Given the description of an element on the screen output the (x, y) to click on. 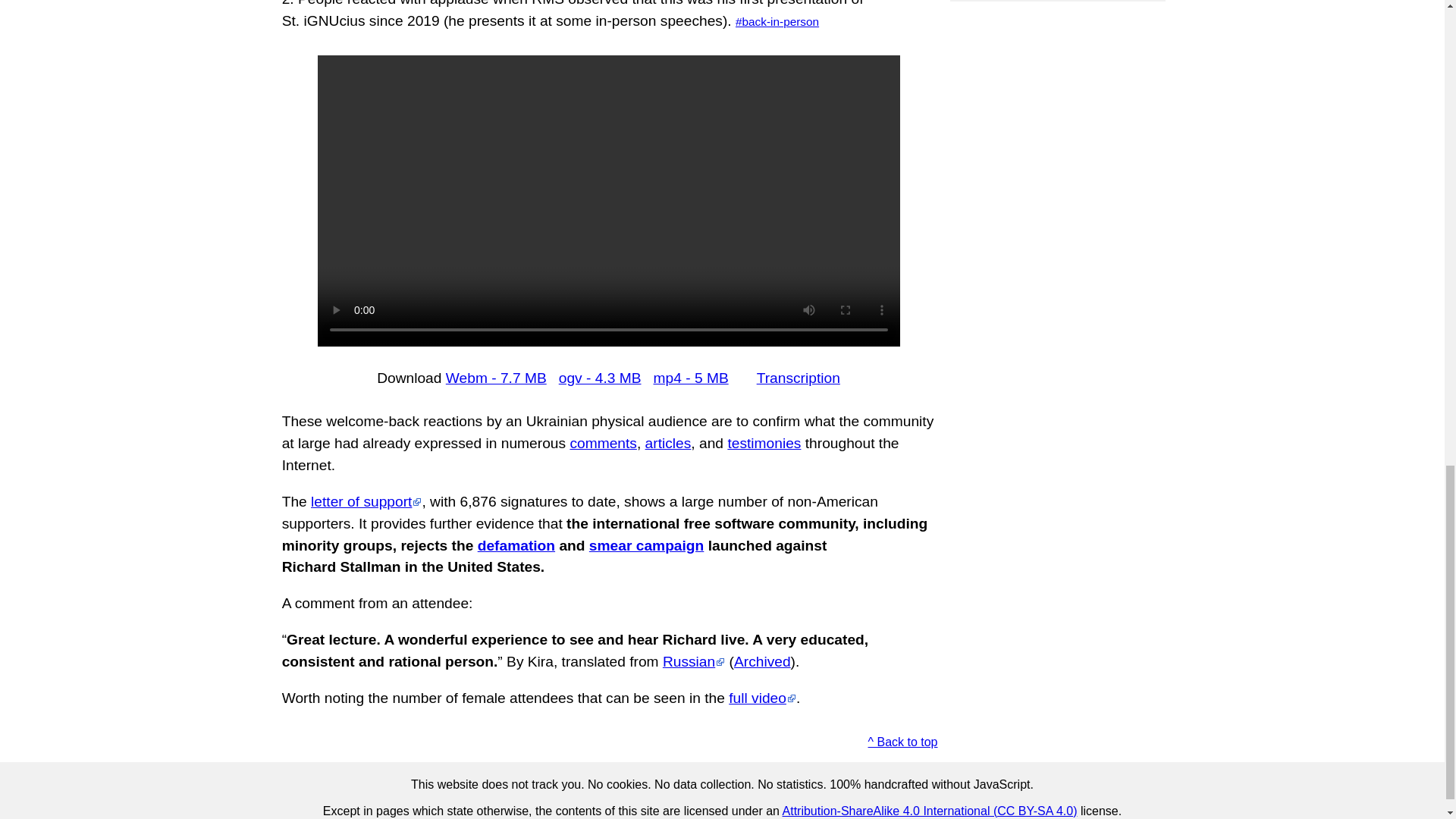
ogv - 4.3 MB (600, 377)
letter of support (366, 501)
Russian (693, 661)
Transcription (798, 377)
testimonies (763, 442)
Archived (761, 661)
comments (603, 442)
articles (668, 442)
defamation (515, 545)
mp4 - 5 MB (691, 377)
